Given the description of an element on the screen output the (x, y) to click on. 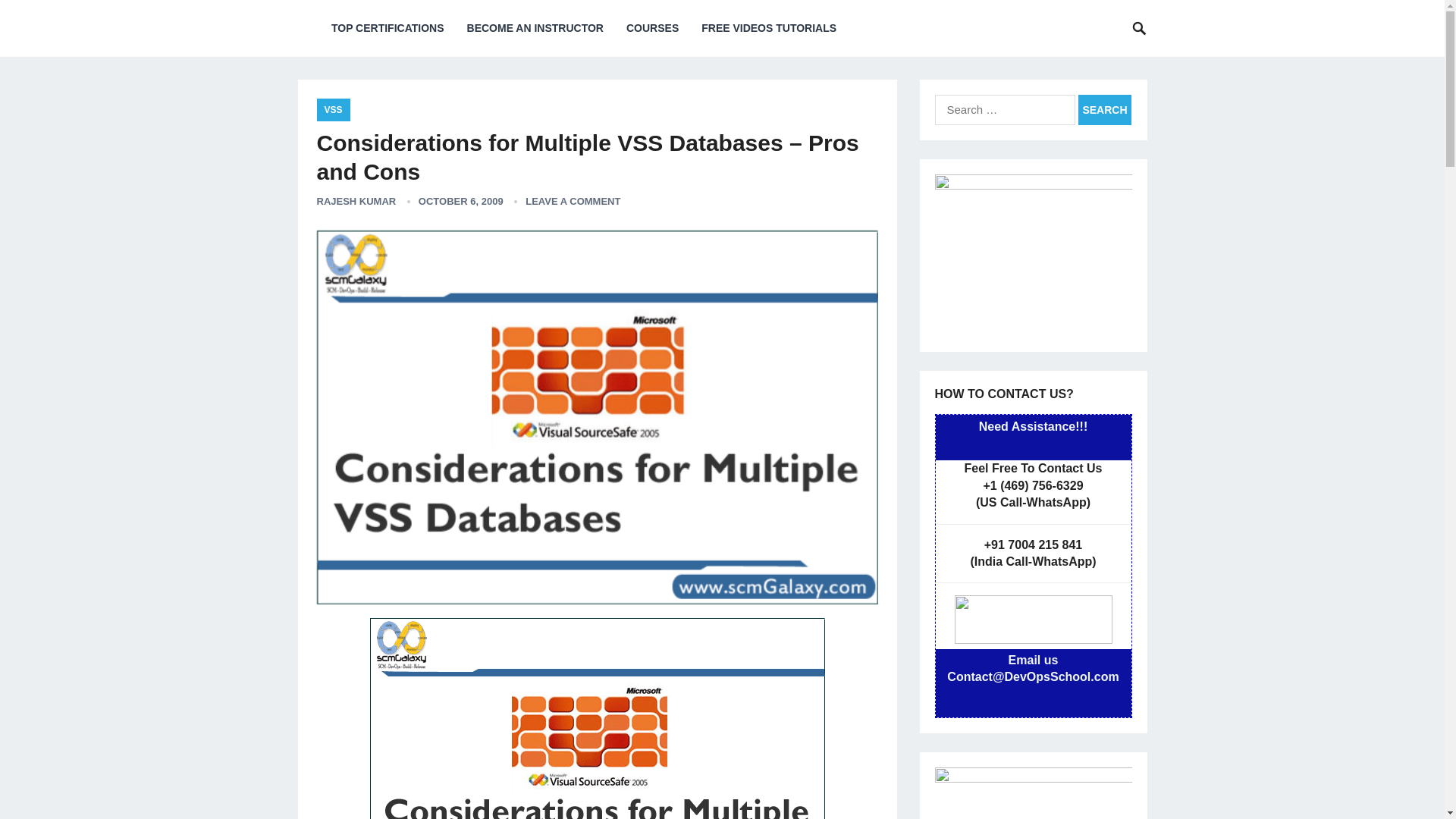
BECOME AN INSTRUCTOR (534, 28)
Search (1104, 110)
TOP CERTIFICATIONS (387, 28)
COURSES (652, 28)
View all posts in VSS (333, 109)
Search (1104, 110)
VSS (333, 109)
FREE VIDEOS TUTORIALS (768, 28)
LEAVE A COMMENT (572, 201)
RAJESH KUMAR (356, 201)
Posts by Rajesh Kumar (356, 201)
